Given the description of an element on the screen output the (x, y) to click on. 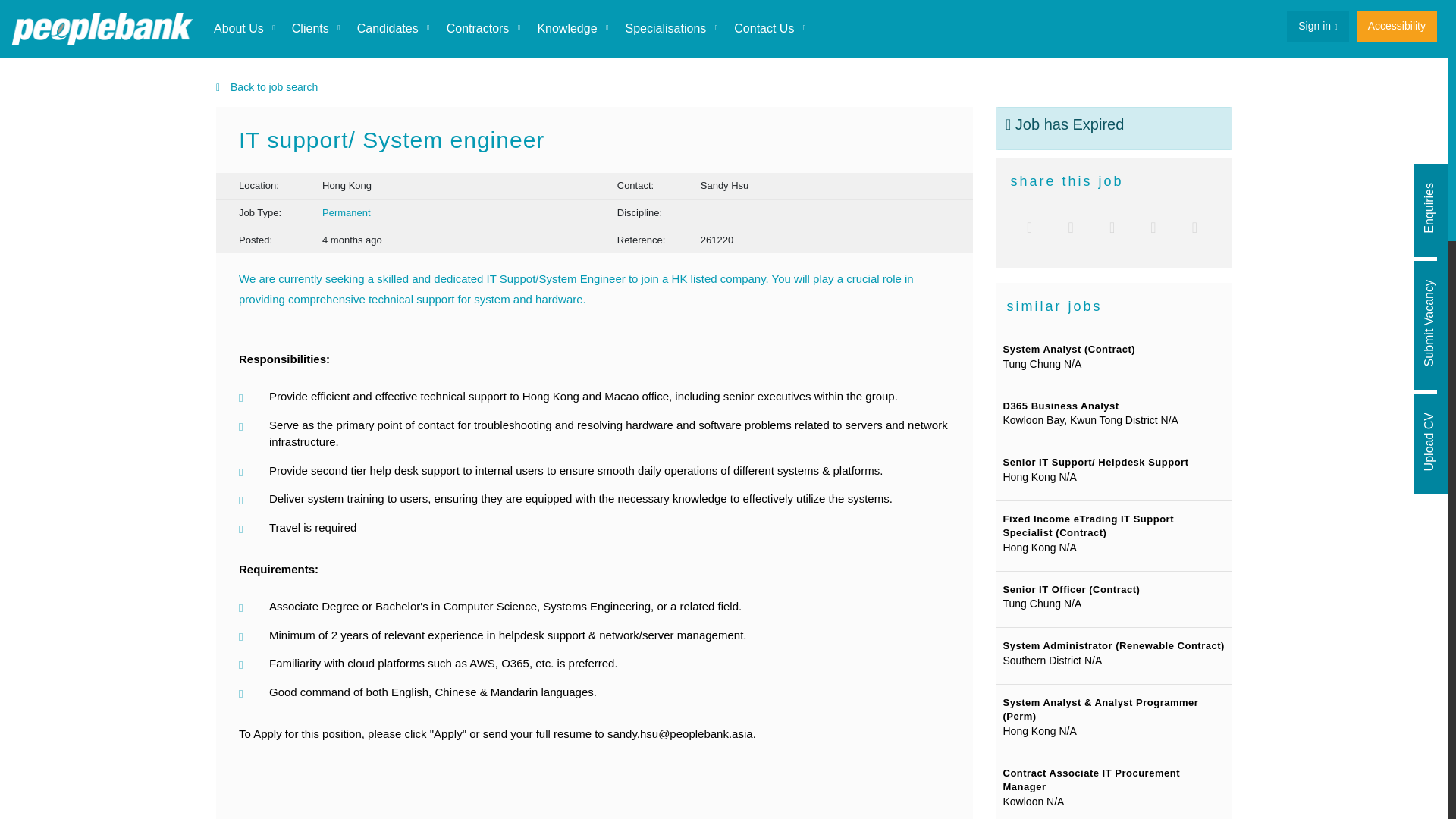
Go to the Homepage (102, 28)
